Given the description of an element on the screen output the (x, y) to click on. 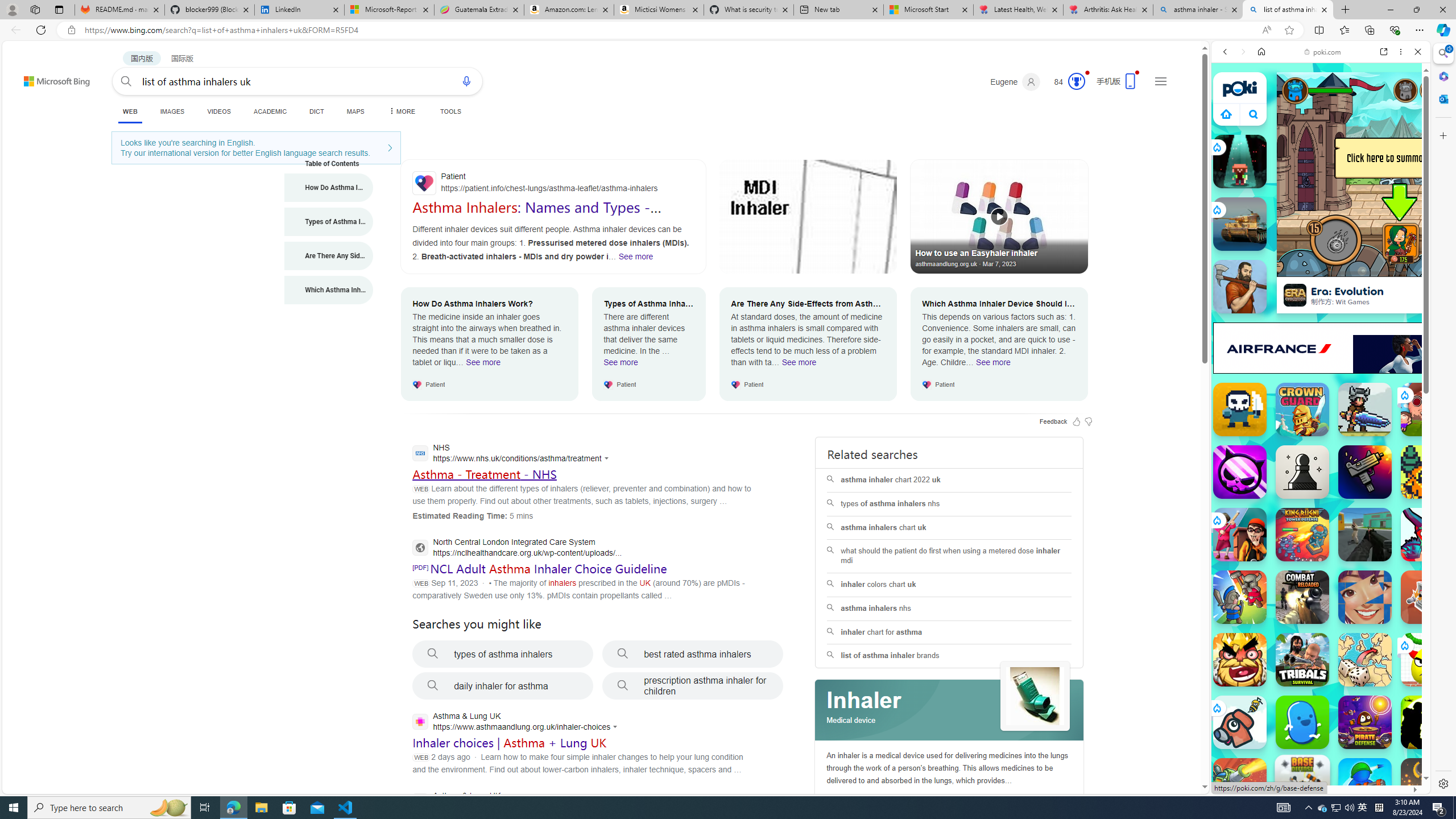
Tower Defense Mingling (1427, 597)
Swatforce vs Terrorists Swatforce vs Terrorists (1427, 722)
Clash of Tanks (1239, 784)
King Rugni King Rugni (1302, 534)
Clash of Tanks Clash of Tanks (1239, 784)
Io Games (1320, 350)
Class: spl_logobg (949, 710)
Save Dogogo (1239, 722)
How to use an Easyhaler inhaler (999, 216)
Base Defense Base Defense (1302, 782)
Poki - Free Online Games - Play Now! (1315, 175)
Like a King Like a King (1239, 659)
